Given the description of an element on the screen output the (x, y) to click on. 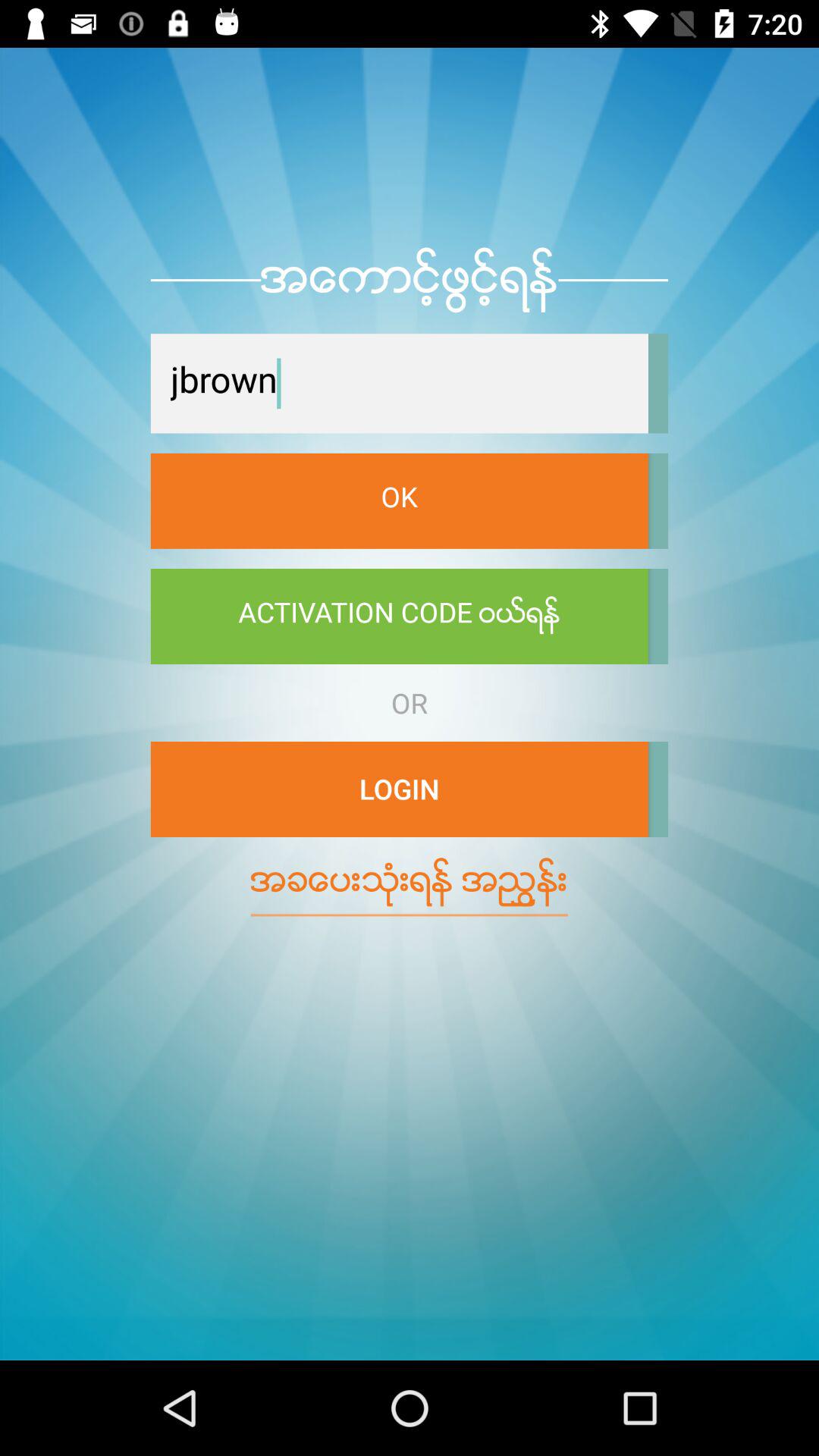
turn off the icon above the or icon (399, 616)
